Given the description of an element on the screen output the (x, y) to click on. 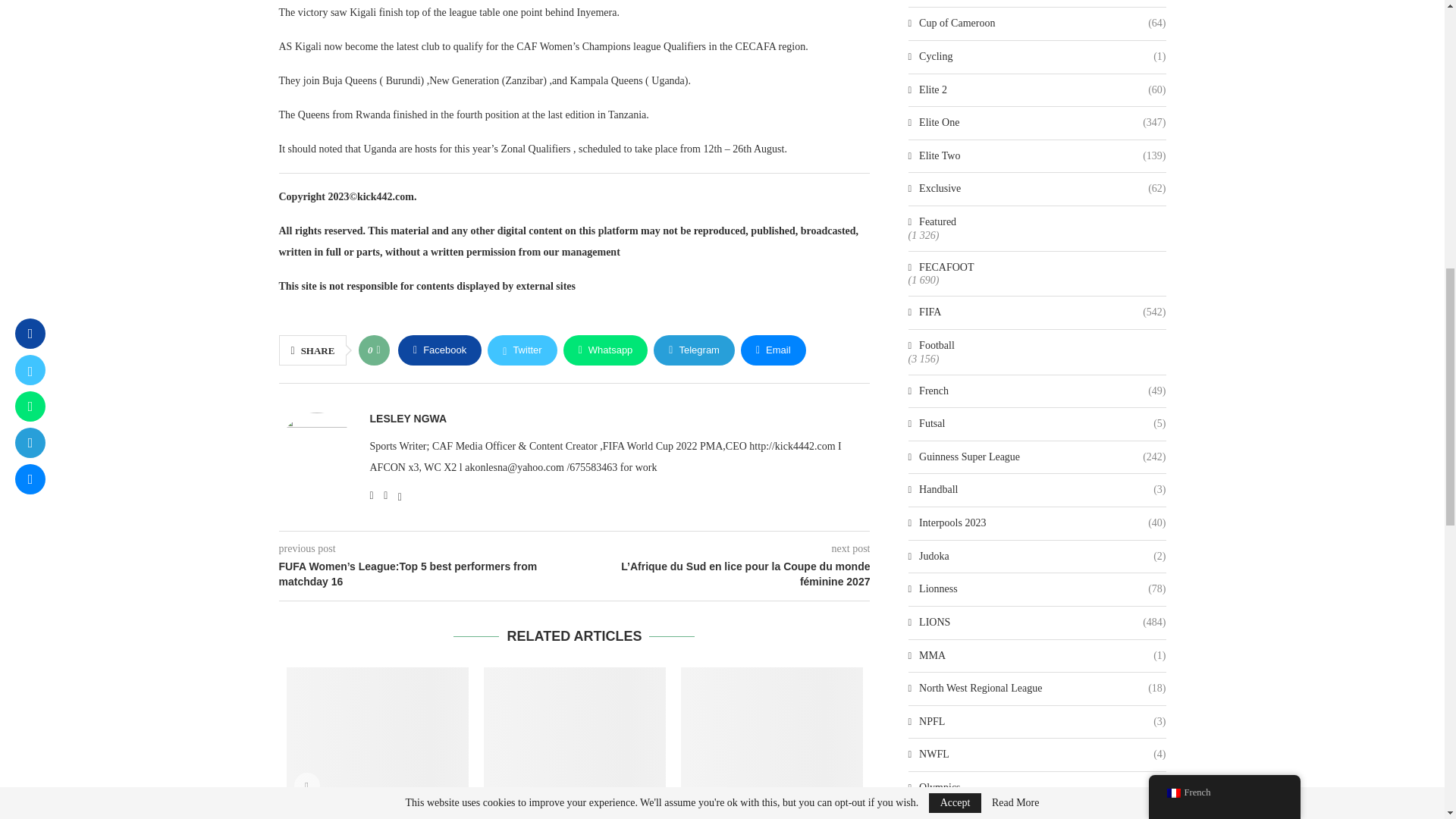
Ndedi Henry: Former GHS Idenau sweeper pens pro deal (772, 727)
Author Lesley Ngwa (407, 418)
Like (377, 349)
Enow Boris completes Switch to United (574, 727)
